Given the description of an element on the screen output the (x, y) to click on. 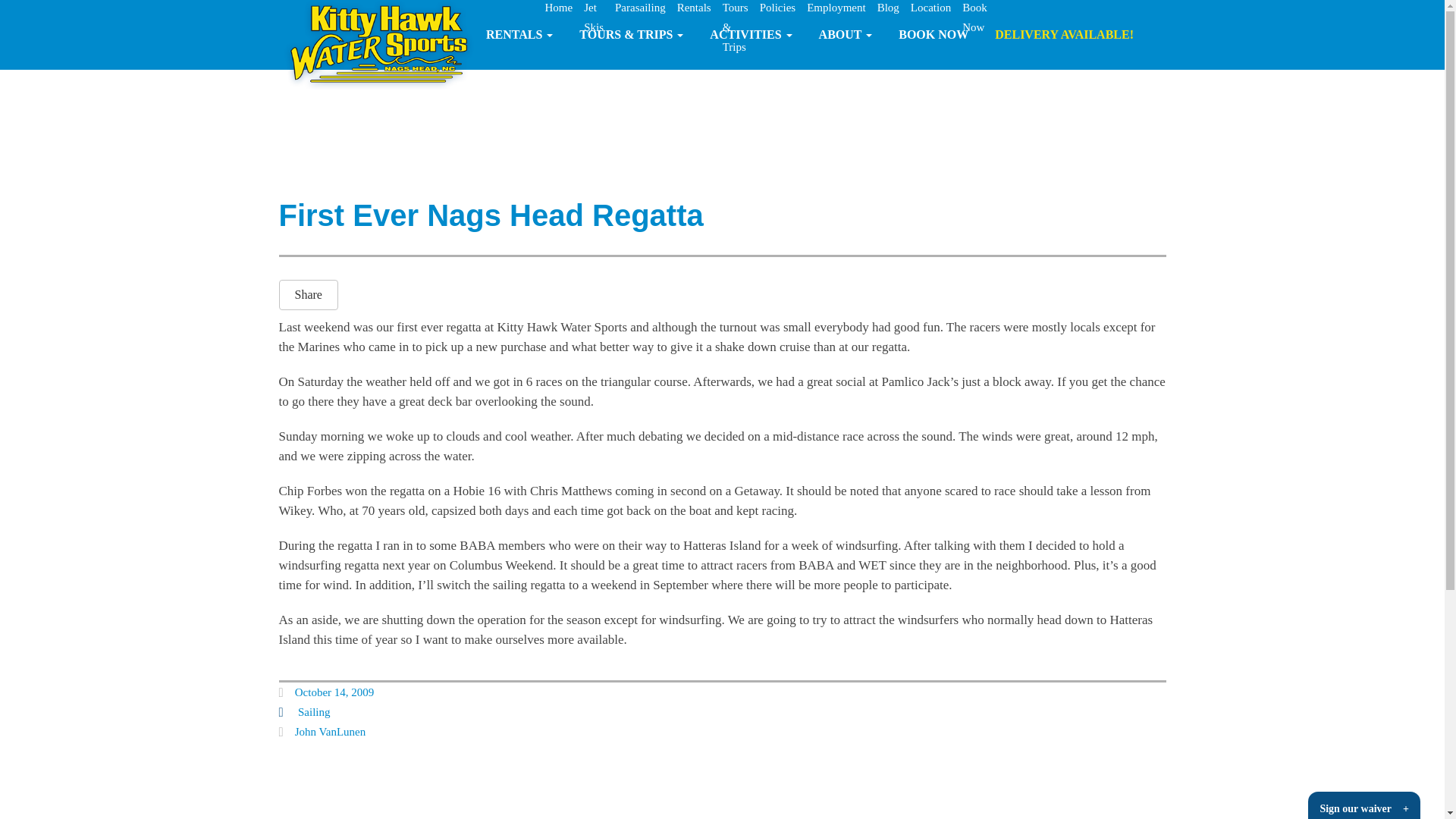
Policies (778, 7)
Parasailing (639, 7)
View all posts by John VanLunen (330, 731)
ACTIVITIES (751, 34)
RENTALS (519, 34)
Home (558, 7)
Blog (888, 7)
Rentals (694, 7)
Employment (836, 7)
Permalink to First Ever Nags Head Regatta (334, 692)
Location (930, 7)
